Given the description of an element on the screen output the (x, y) to click on. 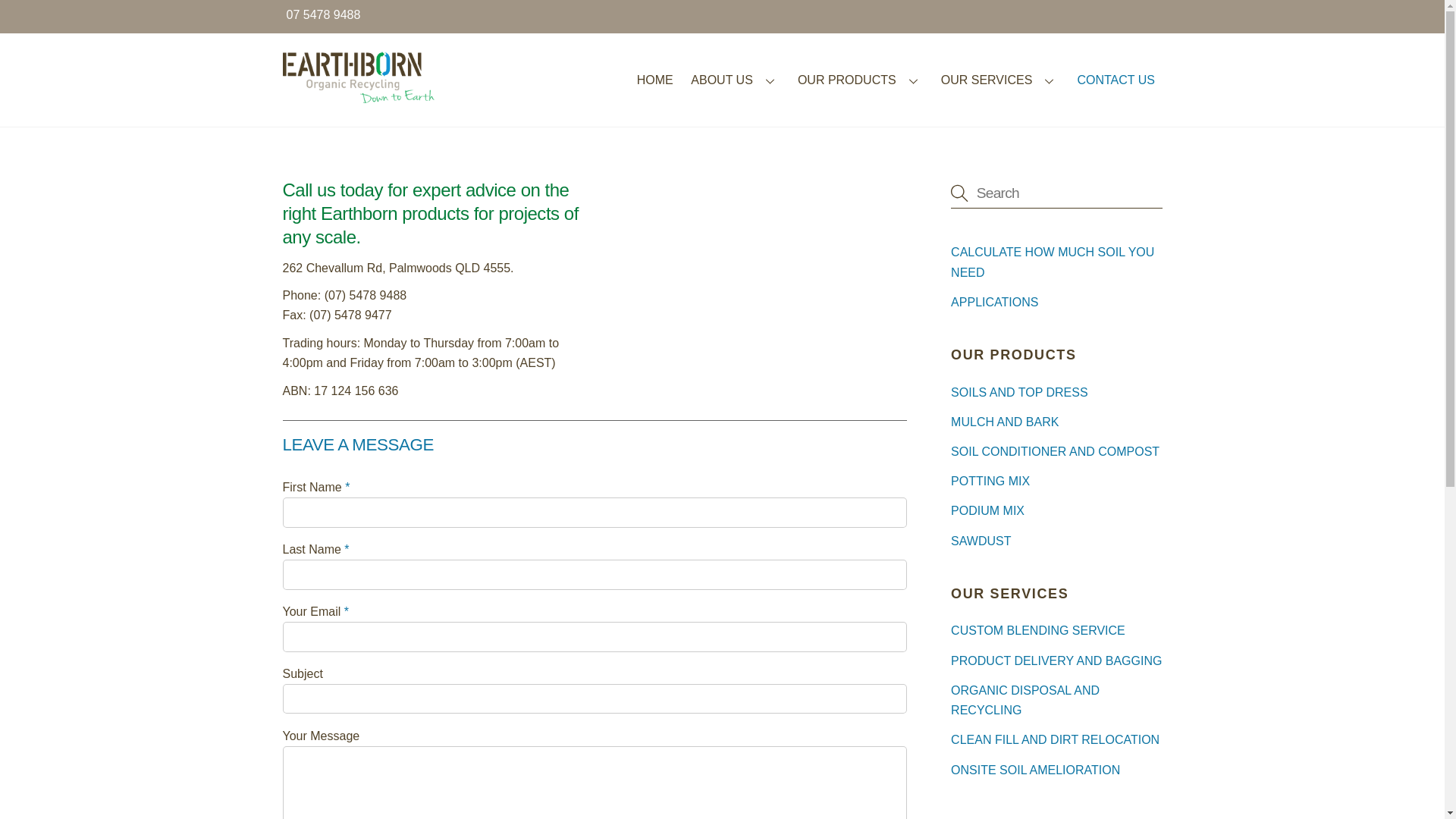
POTTING MIX Element type: text (989, 480)
ONSITE SOIL AMELIORATION Element type: text (1035, 769)
SOIL CONDITIONER AND COMPOST Element type: text (1054, 451)
APPLICATIONS Element type: text (994, 301)
CUSTOM BLENDING SERVICE Element type: text (1037, 630)
PRODUCT DELIVERY AND BAGGING Element type: text (1055, 660)
HOME Element type: text (654, 79)
Search Element type: hover (1055, 192)
CALCULATE HOW MUCH SOIL YOU NEED Element type: text (1052, 261)
OUR PRODUCTS Element type: text (859, 79)
SOILS AND TOP DRESS Element type: text (1019, 391)
CLEAN FILL AND DIRT RELOCATION Element type: text (1054, 739)
OUR SERVICES Element type: text (999, 79)
SAWDUST Element type: text (980, 540)
MULCH AND BARK Element type: text (1004, 421)
logo Element type: hover (357, 77)
Earthborn Australia Element type: hover (357, 95)
ORGANIC DISPOSAL AND RECYCLING Element type: text (1024, 700)
PODIUM MIX Element type: text (987, 510)
CONTACT US Element type: text (1116, 79)
ABOUT US Element type: text (735, 79)
07 5478 9488 Element type: text (323, 14)
